Given the description of an element on the screen output the (x, y) to click on. 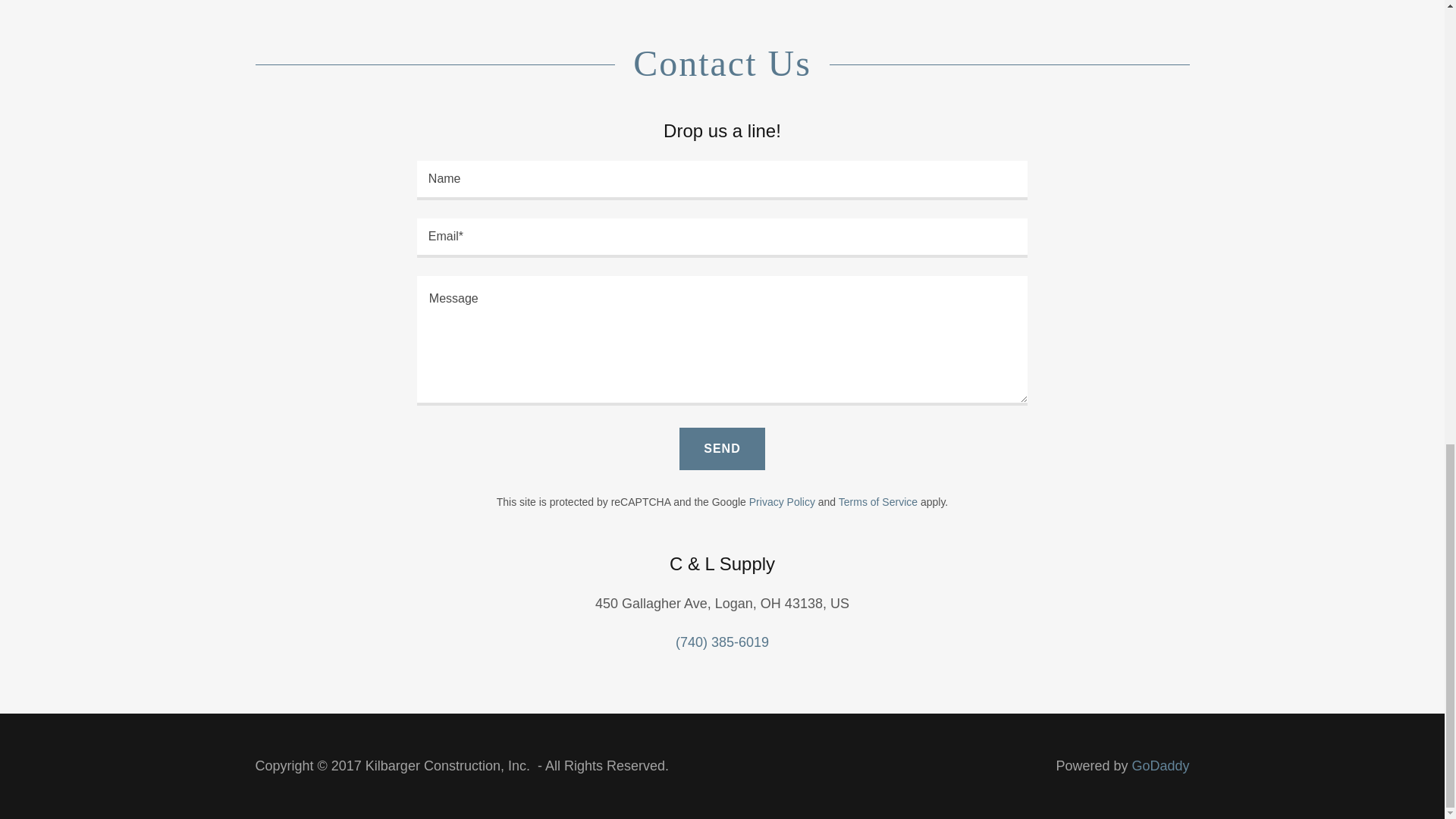
SEND (722, 448)
Terms of Service (877, 501)
GoDaddy (1160, 765)
Privacy Policy (782, 501)
